Given the description of an element on the screen output the (x, y) to click on. 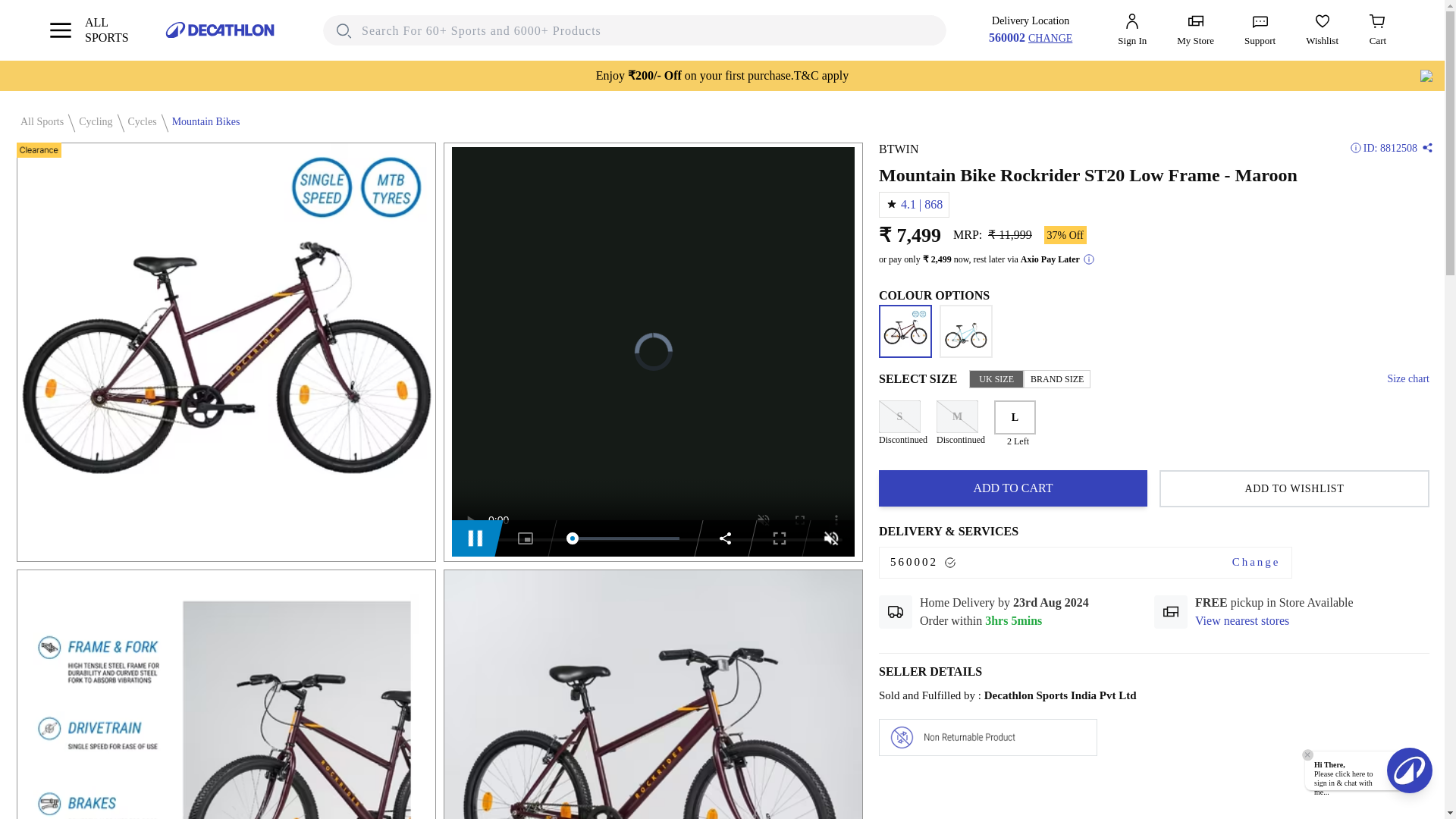
CHANGE (1049, 37)
Change (1256, 561)
ADD TO WISHLIST (1293, 488)
ADD TO CART (1154, 426)
View nearest stores (1013, 488)
Mountain Bikes (1241, 619)
Cycling (202, 120)
video (91, 120)
